Given the description of an element on the screen output the (x, y) to click on. 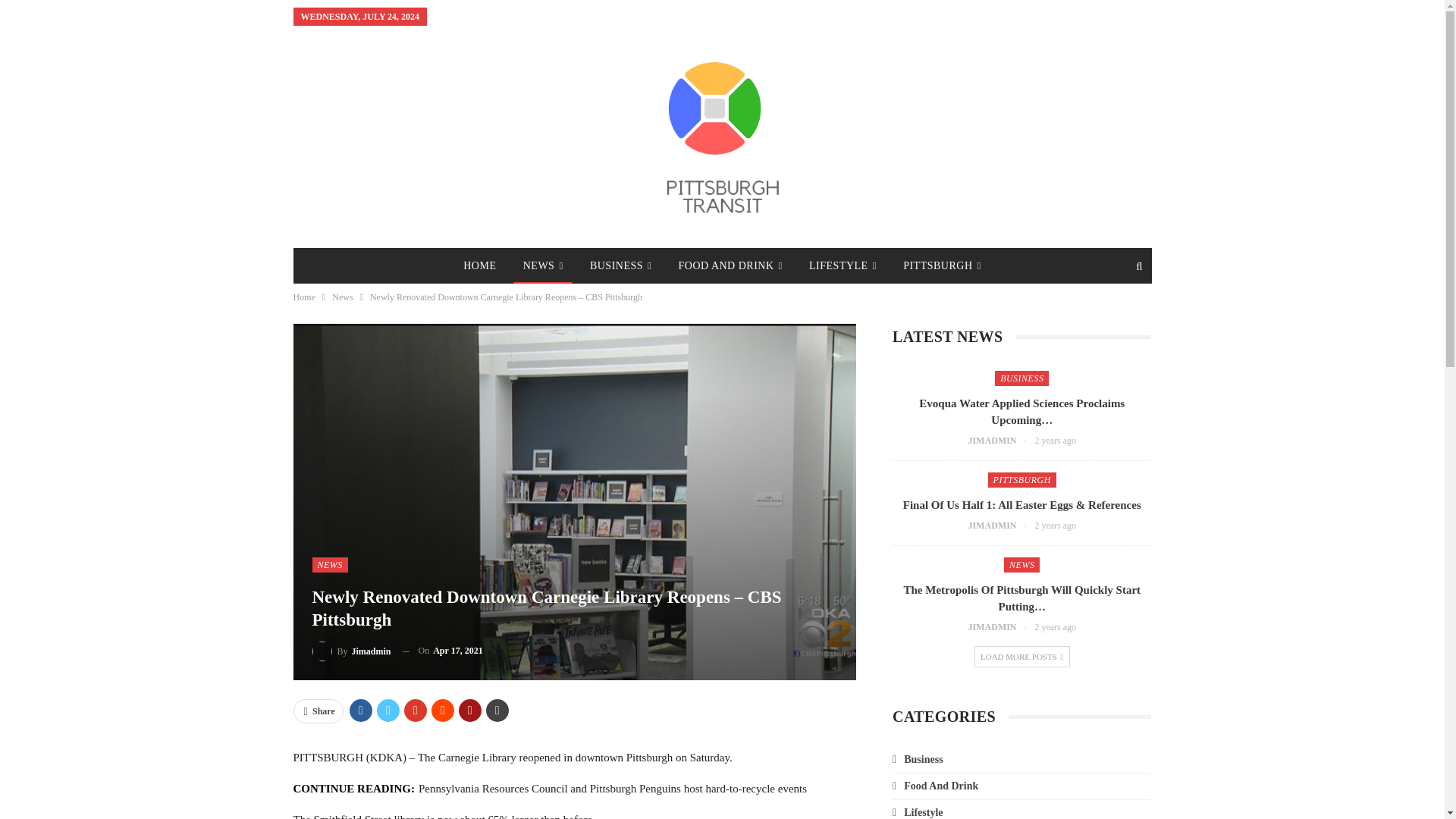
HOME (479, 265)
FOOD AND DRINK (730, 265)
NEWS (542, 265)
BUSINESS (620, 265)
